Given the description of an element on the screen output the (x, y) to click on. 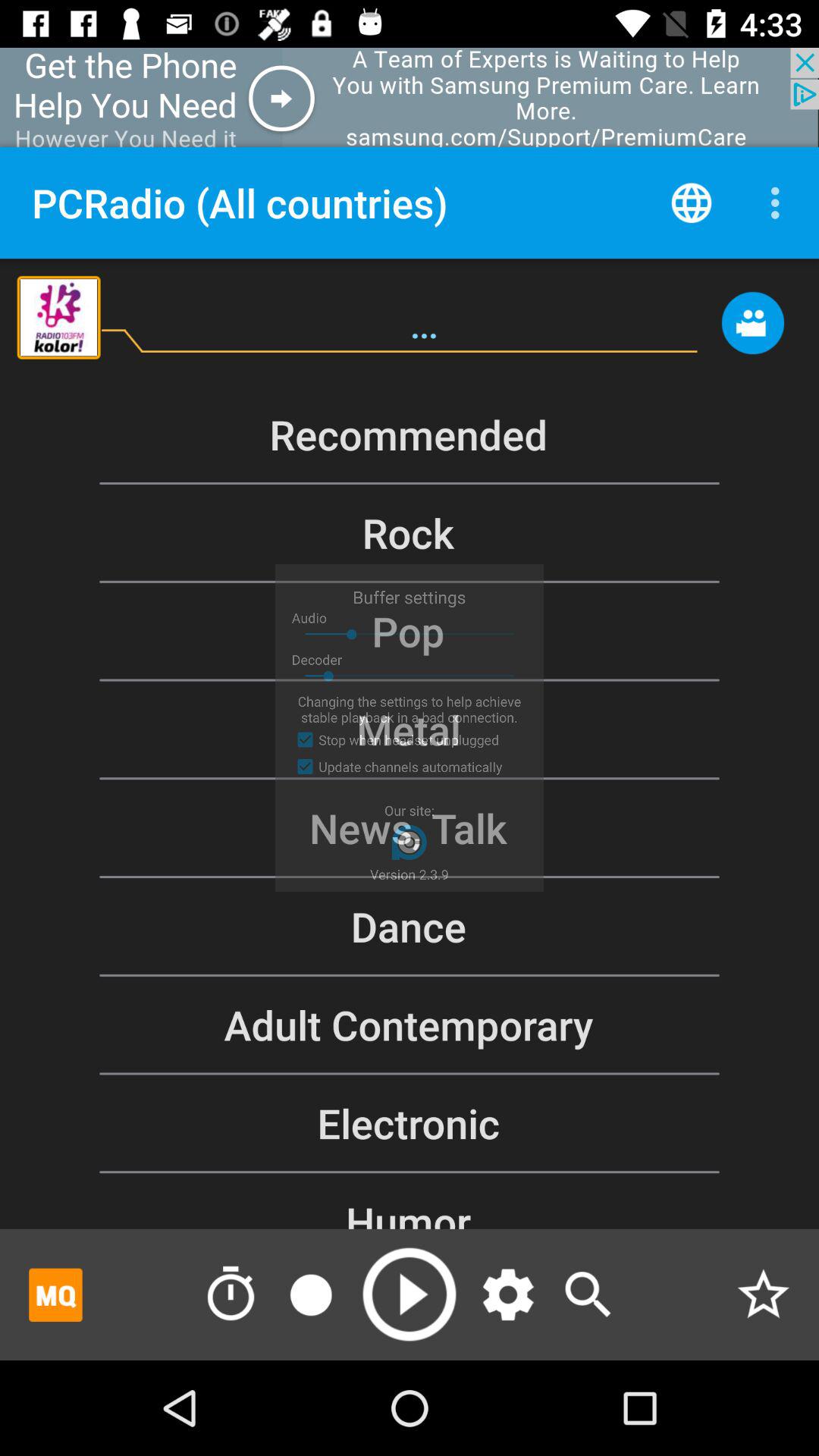
click search button (588, 1294)
